Given the description of an element on the screen output the (x, y) to click on. 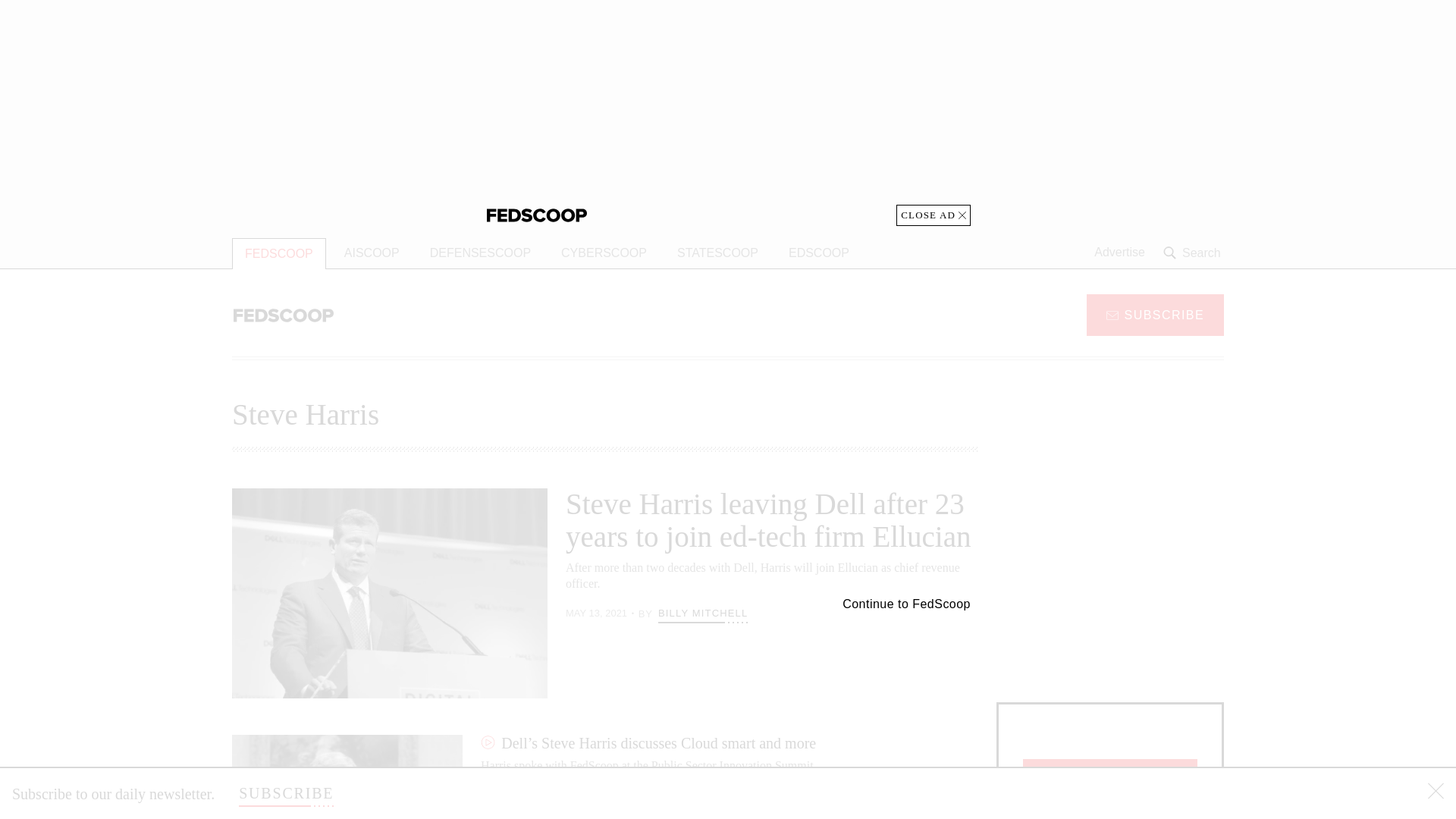
AISCOOP (371, 253)
BILLY MITCHELL (703, 612)
EDSCOOP (818, 253)
Search (1193, 252)
STATESCOOP (717, 253)
FEDSCOOP (278, 253)
Advertise (1119, 252)
3rd party ad content (1109, 583)
CLOSE (1436, 793)
SUBSCRIBE (1155, 314)
CYBERSCOOP (603, 253)
